Given the description of an element on the screen output the (x, y) to click on. 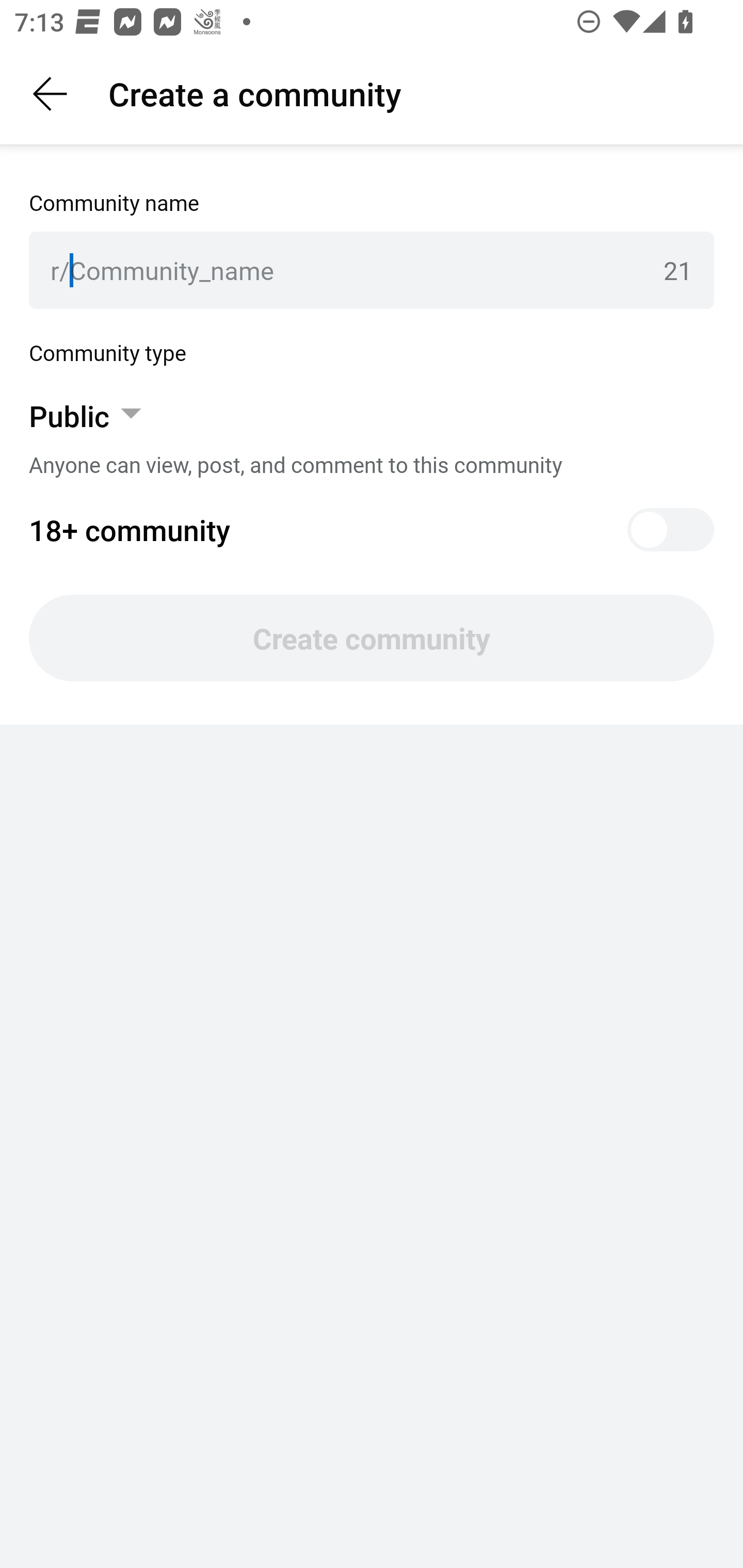
Community_name (359, 270)
18+ community (371, 529)
Create community (371, 638)
